Given the description of an element on the screen output the (x, y) to click on. 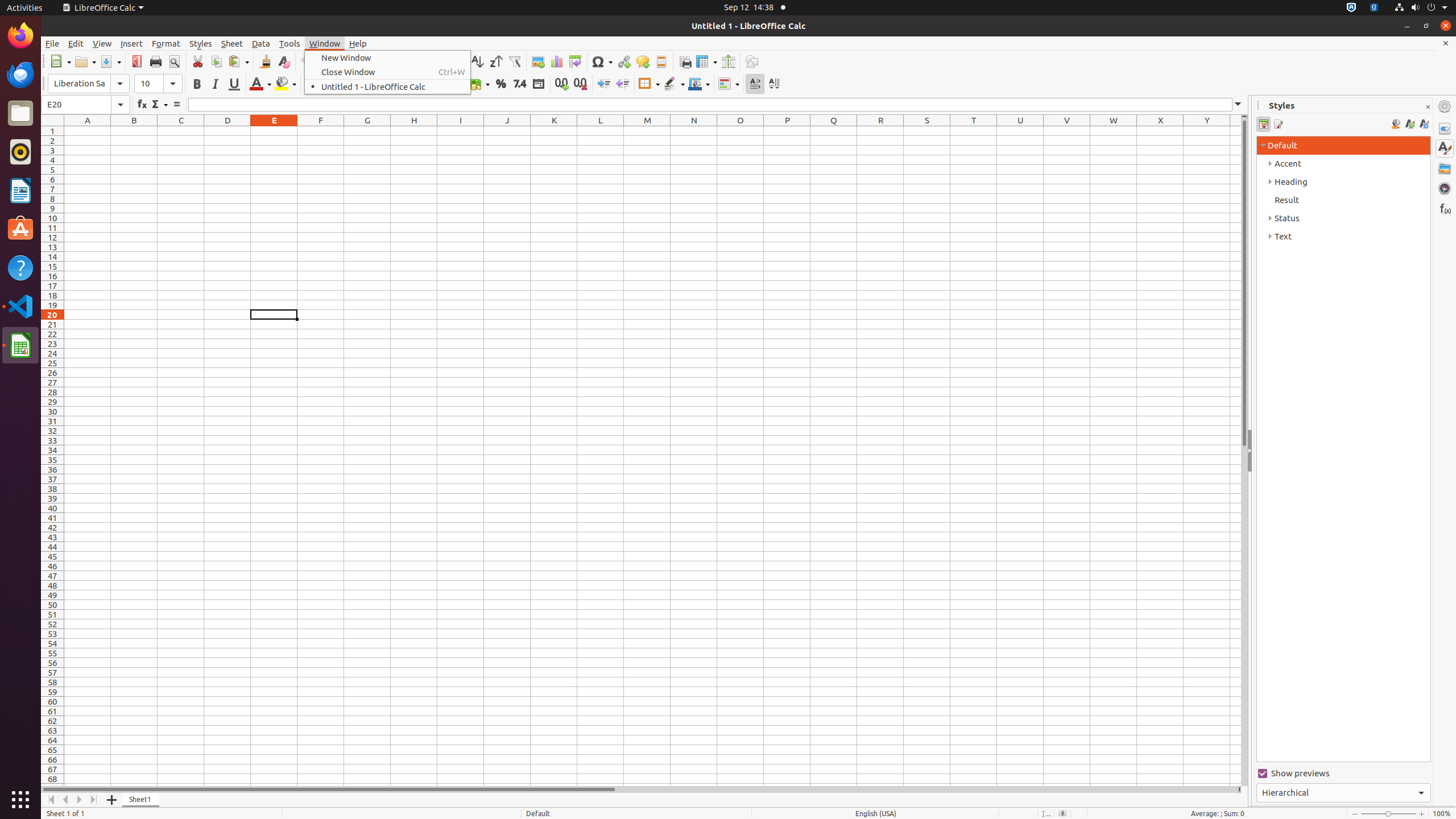
Font Name Element type: combo-box (88, 83)
C1 Element type: table-cell (180, 130)
Headers and Footers Element type: push-button (660, 61)
Sort Descending Element type: push-button (495, 61)
Copy Element type: push-button (216, 61)
